Given the description of an element on the screen output the (x, y) to click on. 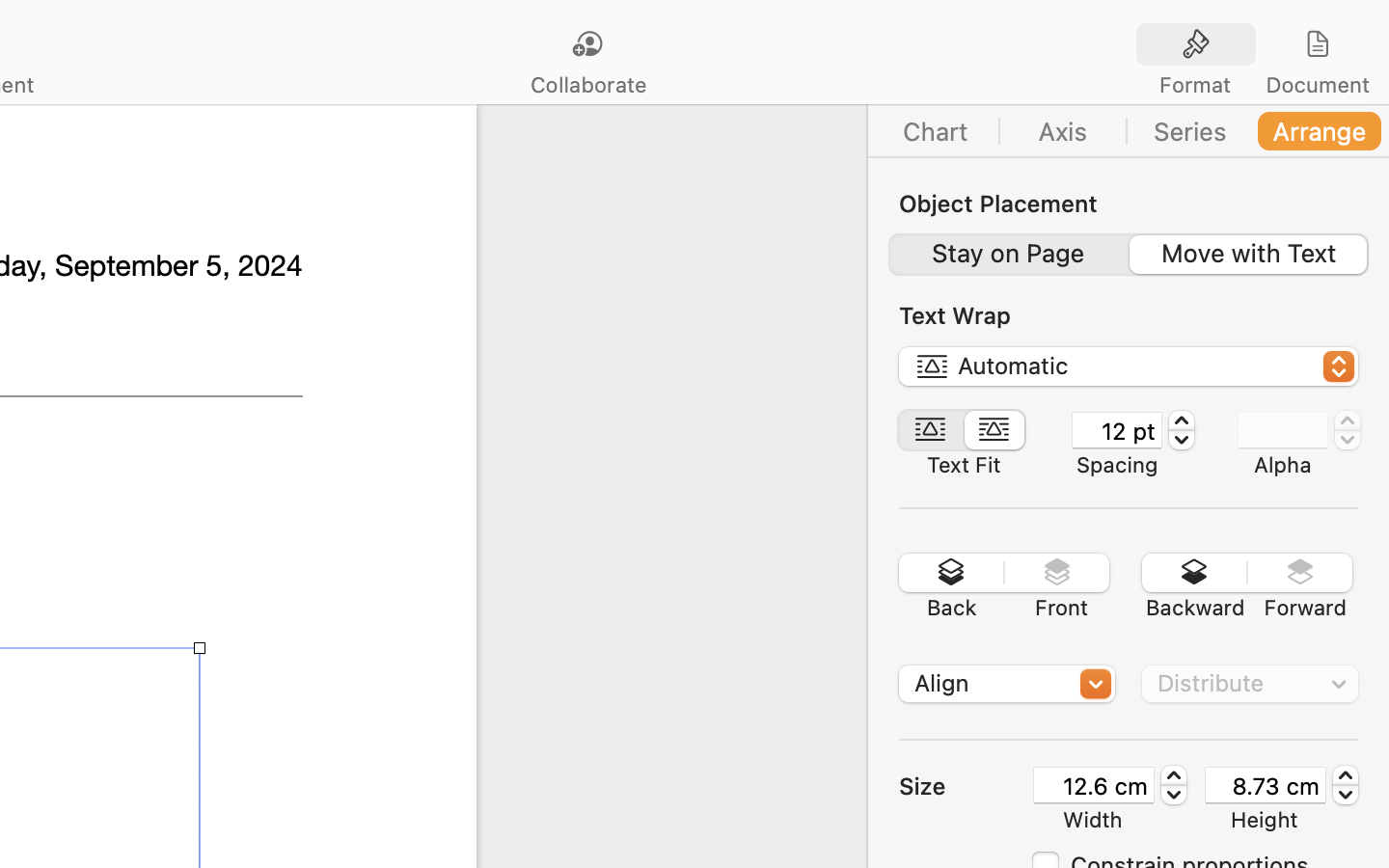
<AXUIElement 0x10f010910> {pid=1482} Element type: AXRadioGroup (1127, 254)
<AXUIElement 0x178665520> {pid=1482} Element type: AXGroup (1256, 45)
Height Element type: AXStaticText (1264, 819)
357.1550335693359 Element type: AXIncrementor (1173, 785)
<AXUIElement 0x28a55f2a0> {pid=1482} Element type: AXRadioGroup (1128, 131)
